Given the description of an element on the screen output the (x, y) to click on. 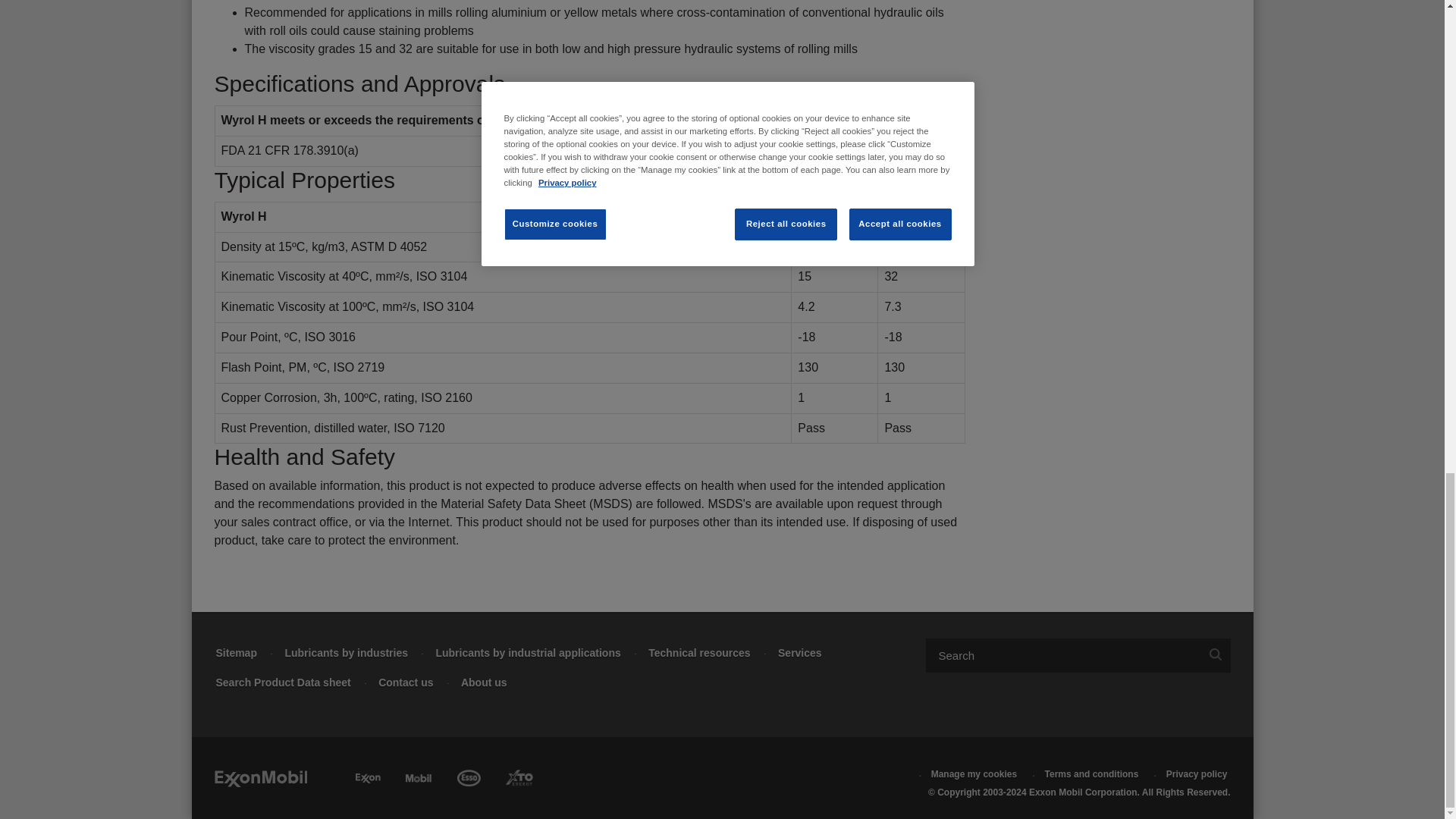
Esso (468, 775)
Exxon (367, 775)
Xto (518, 775)
Mobil (418, 775)
Insert a query. Press enter to send (1061, 655)
